Given the description of an element on the screen output the (x, y) to click on. 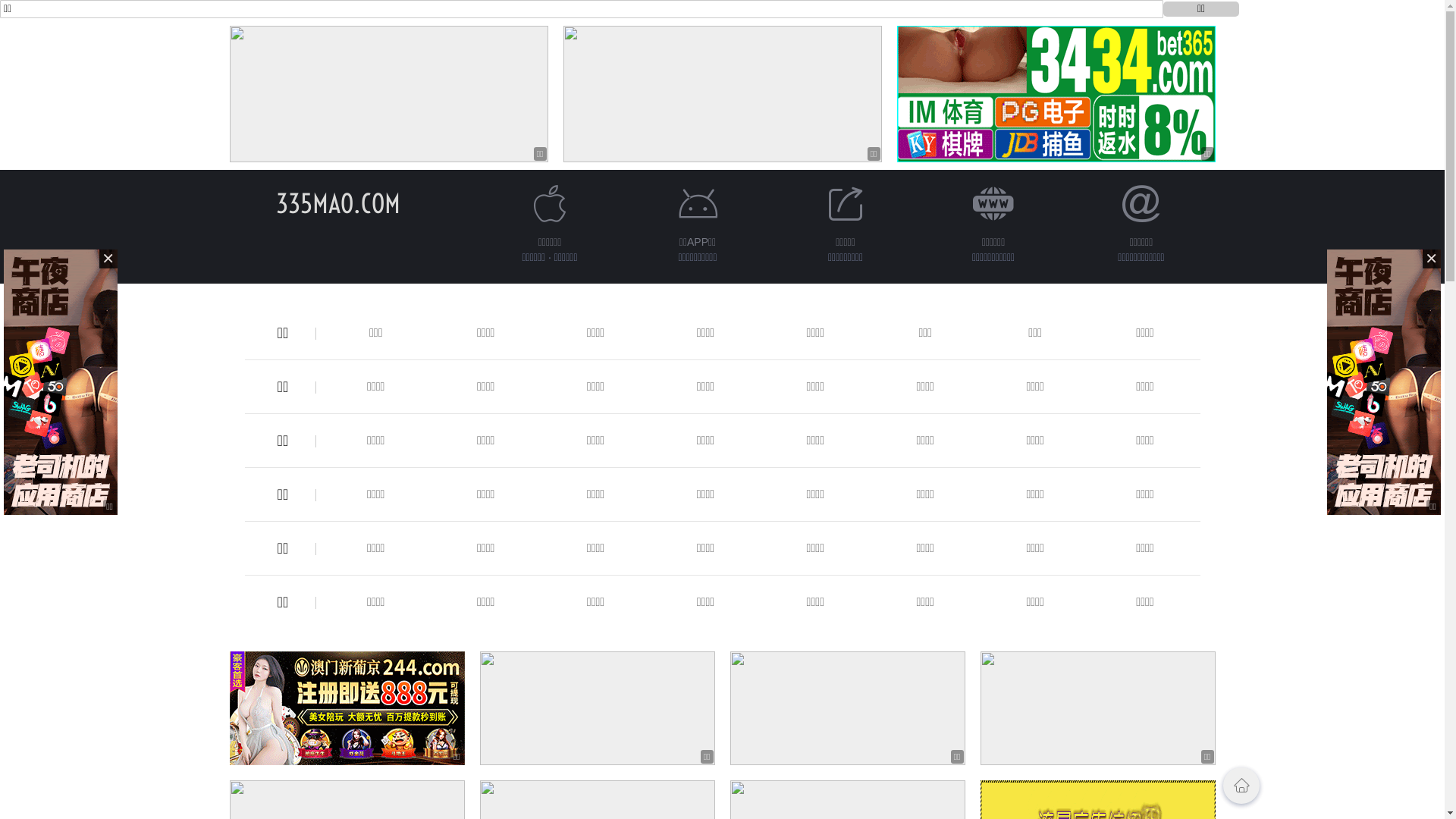
335MAO.COM Element type: text (338, 203)
